Given the description of an element on the screen output the (x, y) to click on. 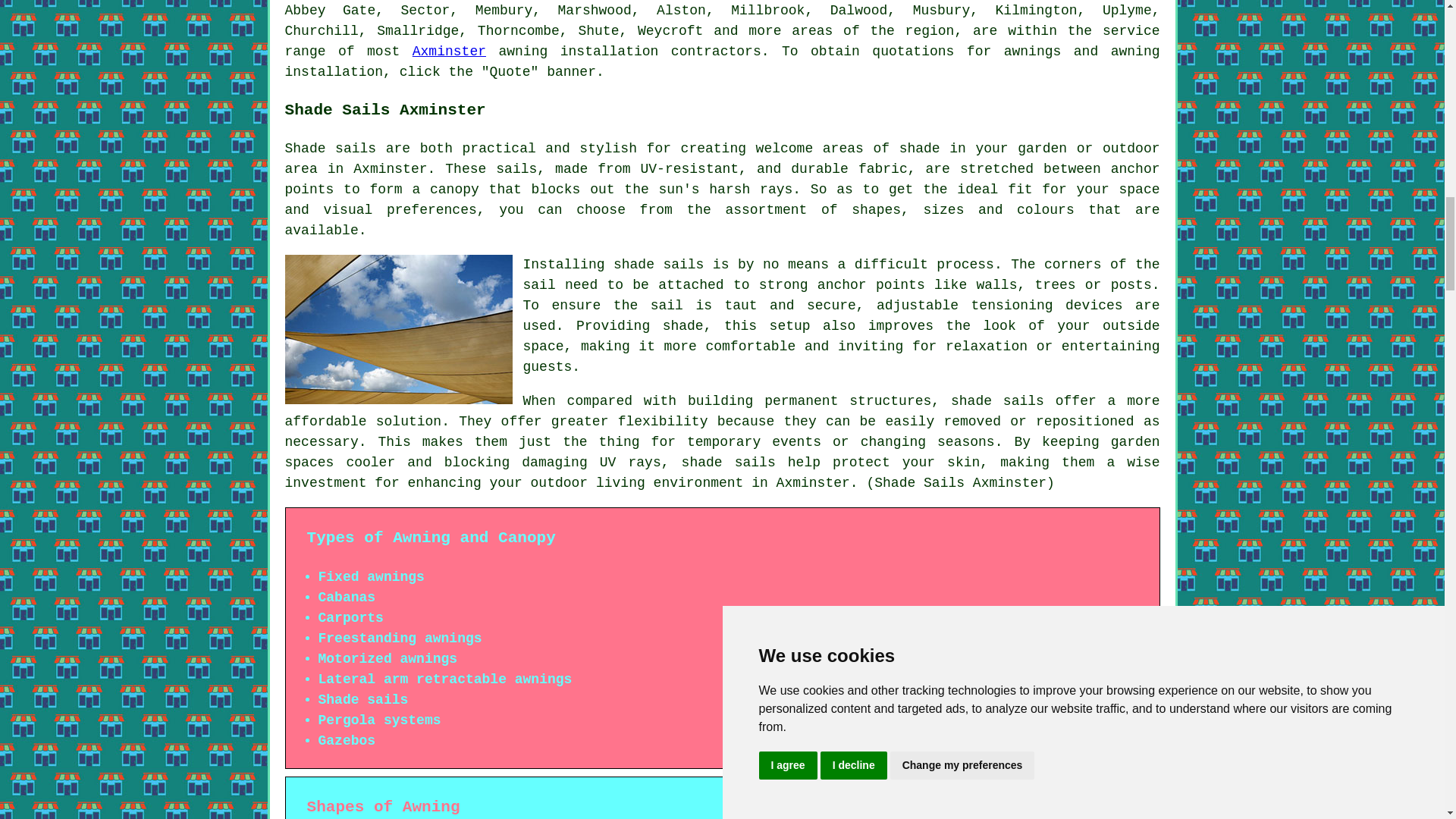
shade (682, 325)
shade sails (728, 462)
awning (522, 51)
Shade Sails Axminster (398, 329)
awning (1135, 51)
